Given the description of an element on the screen output the (x, y) to click on. 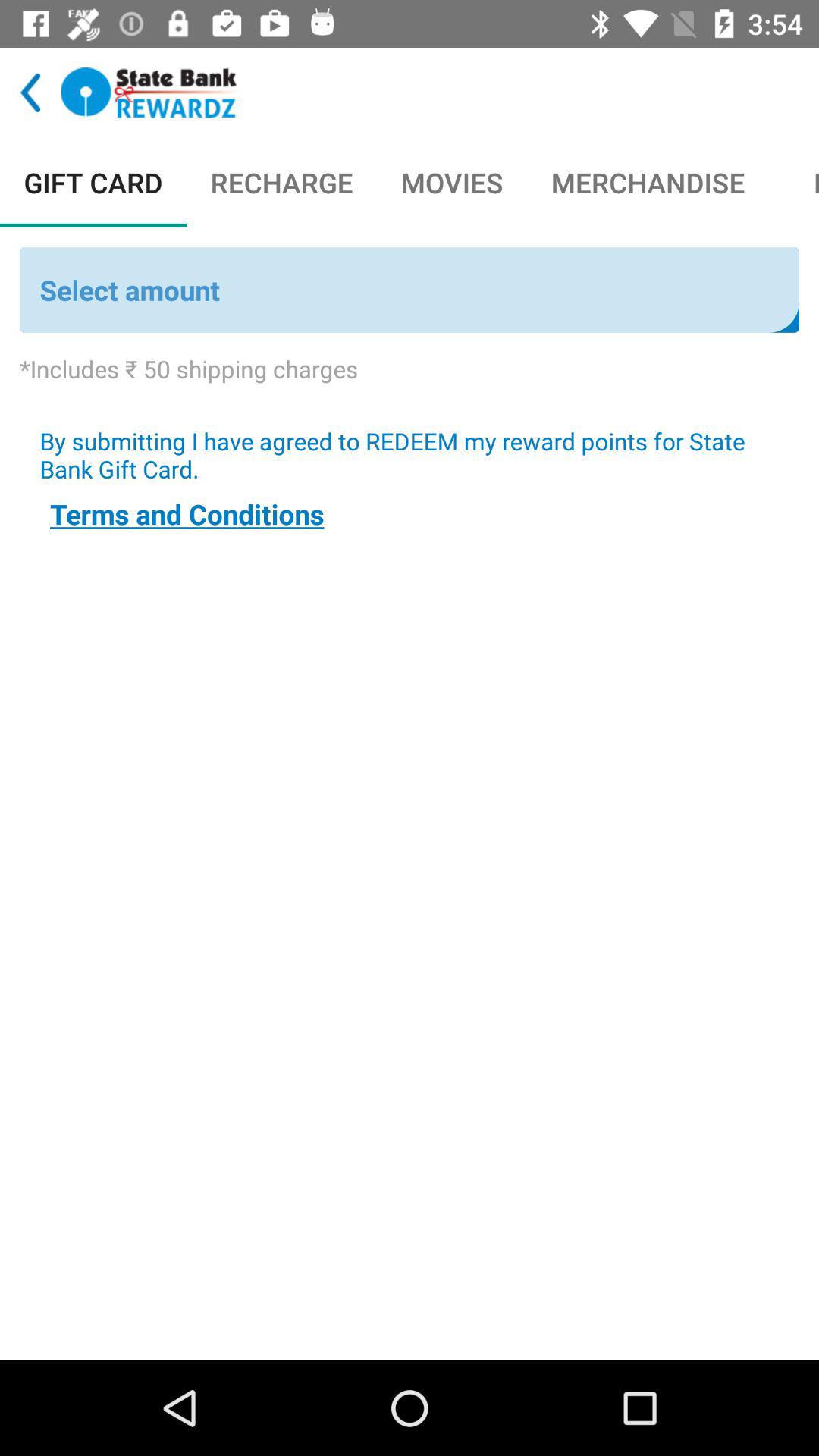
click the terms and conditions app (186, 514)
